Given the description of an element on the screen output the (x, y) to click on. 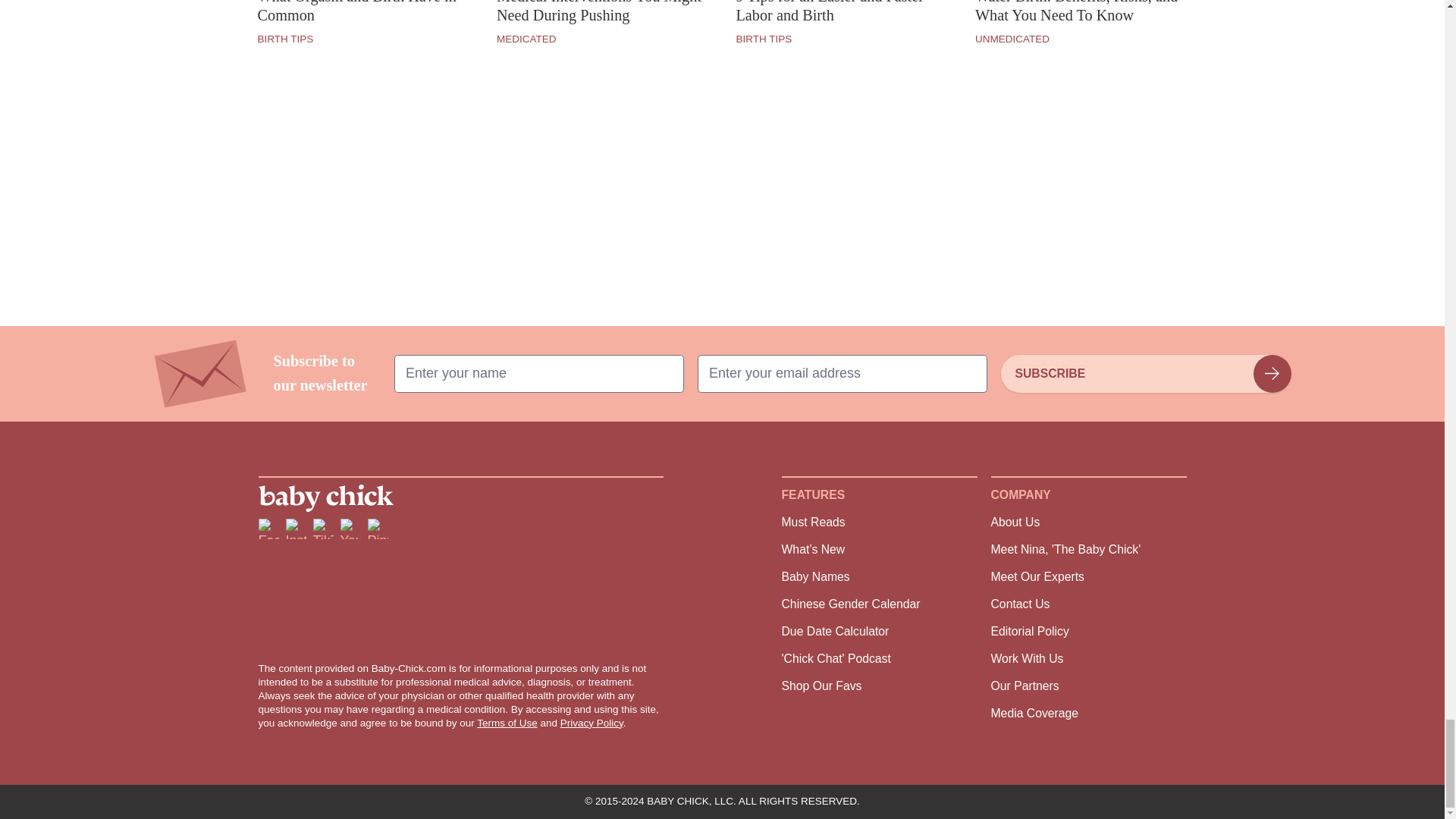
Subscribe (1145, 373)
